Given the description of an element on the screen output the (x, y) to click on. 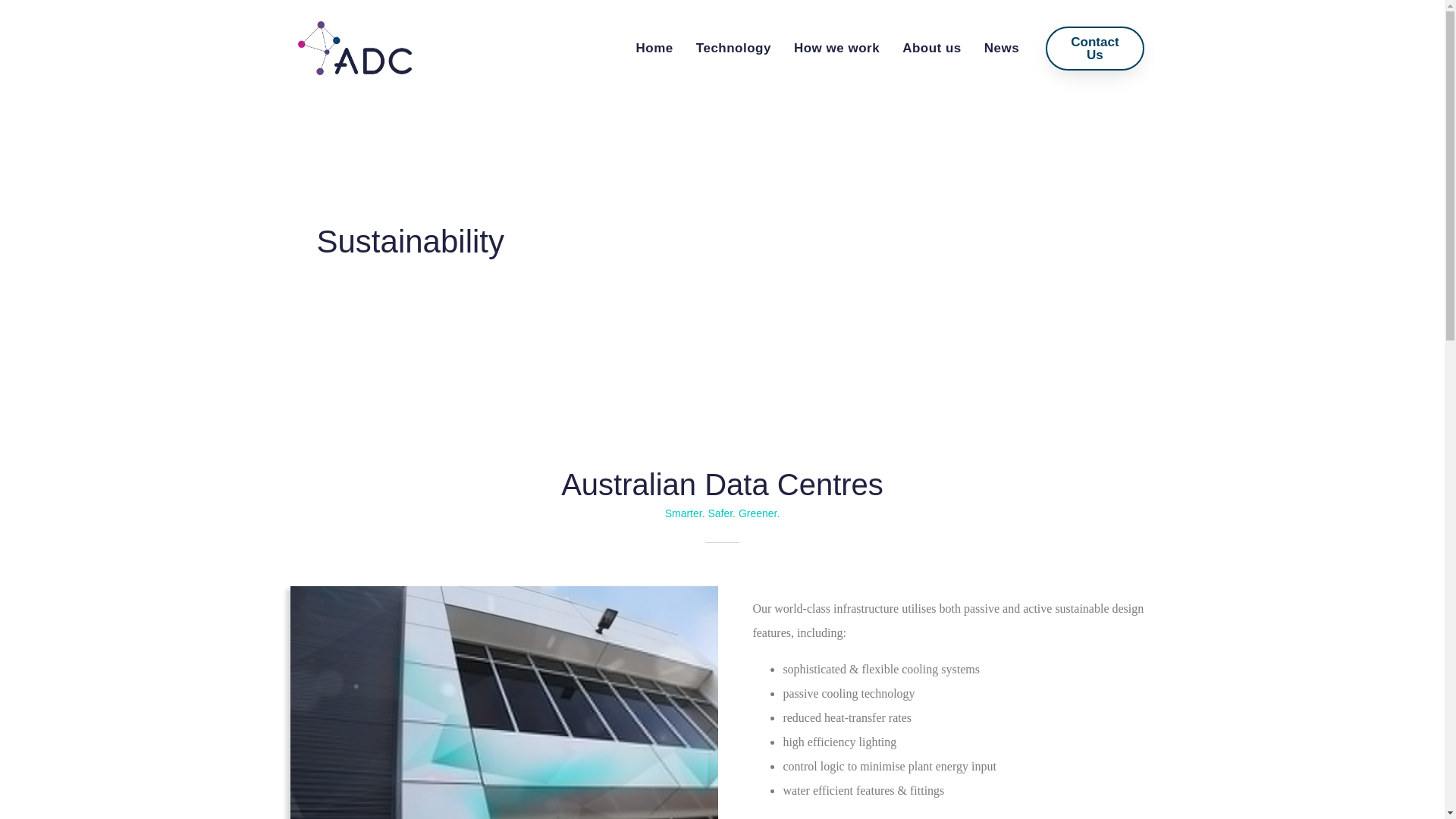
How we work (837, 48)
News (1001, 48)
Home (654, 48)
Technology (733, 48)
About us (931, 48)
